Given the description of an element on the screen output the (x, y) to click on. 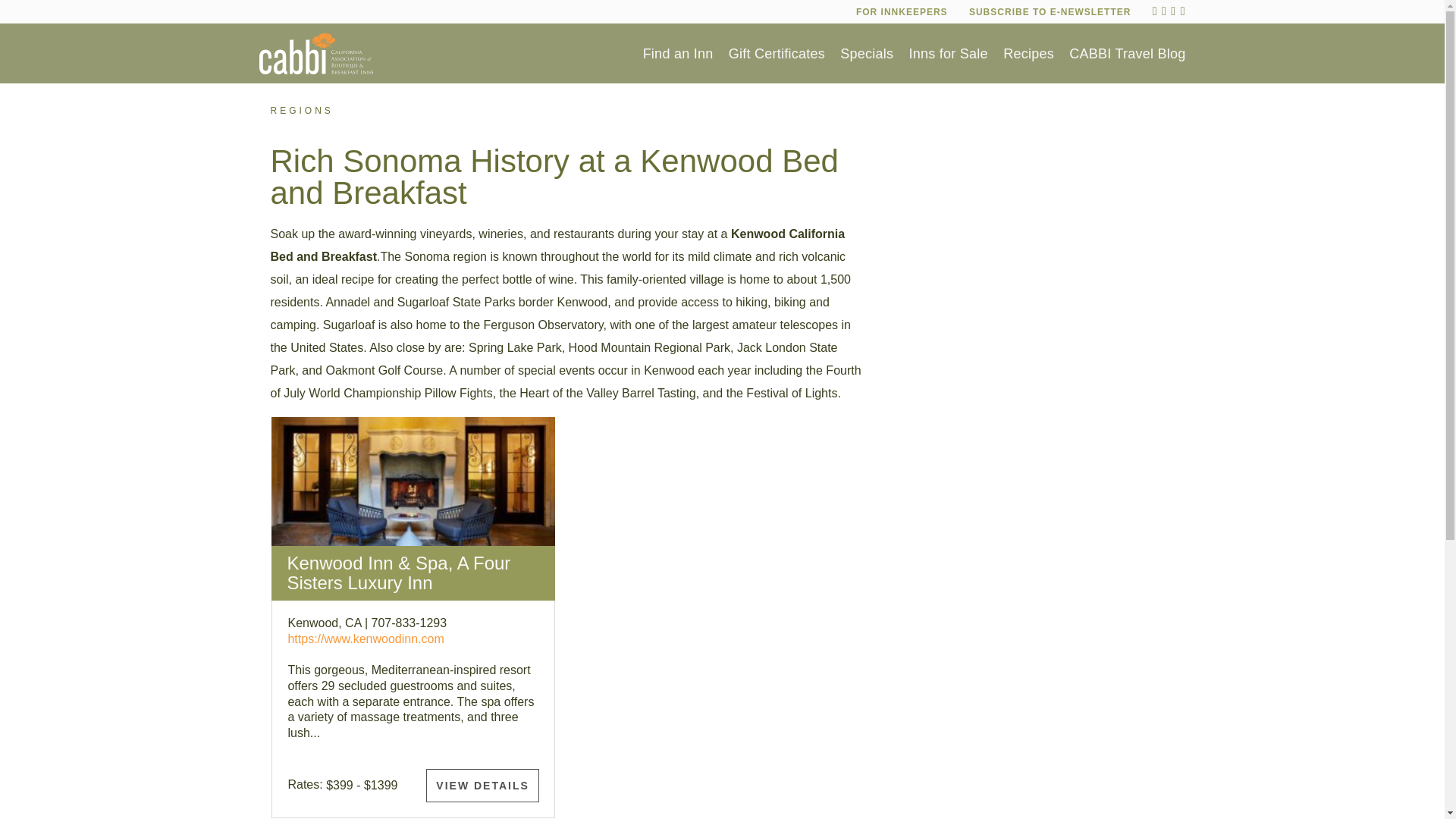
Find an Inn (678, 53)
VIEW DETAILS (482, 785)
Gift Certificates (777, 53)
CABBI Travel Blog (1126, 53)
Recipes (1028, 53)
SUBSCRIBE TO E-NEWSLETTER (1050, 11)
FOR INNKEEPERS (901, 11)
Inns for Sale (948, 53)
Specials (866, 53)
